Given the description of an element on the screen output the (x, y) to click on. 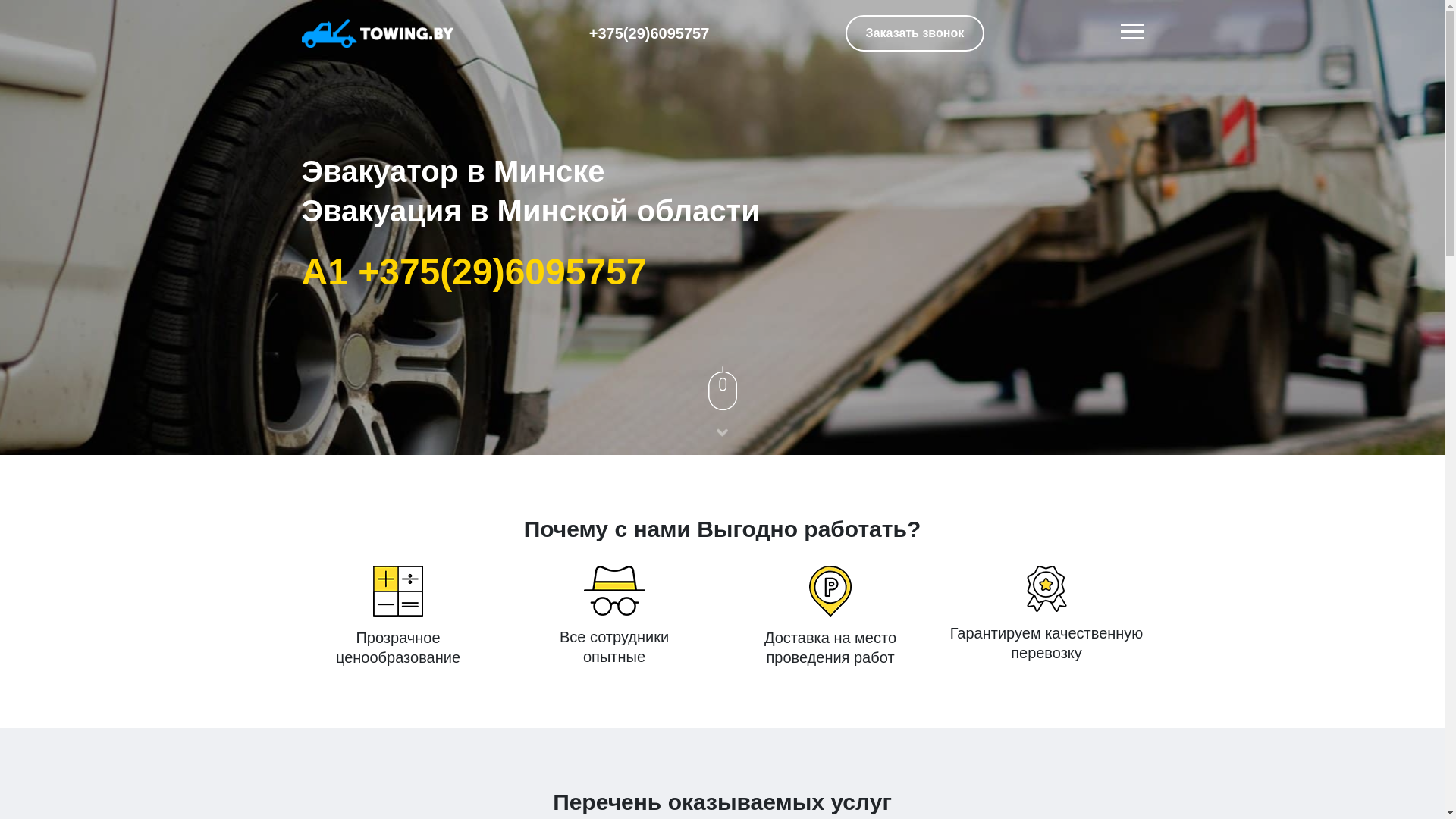
towing.by Element type: hover (377, 32)
A1 +375(29)6095757 Element type: text (473, 271)
+375(29)6095757 Element type: text (649, 32)
